Given the description of an element on the screen output the (x, y) to click on. 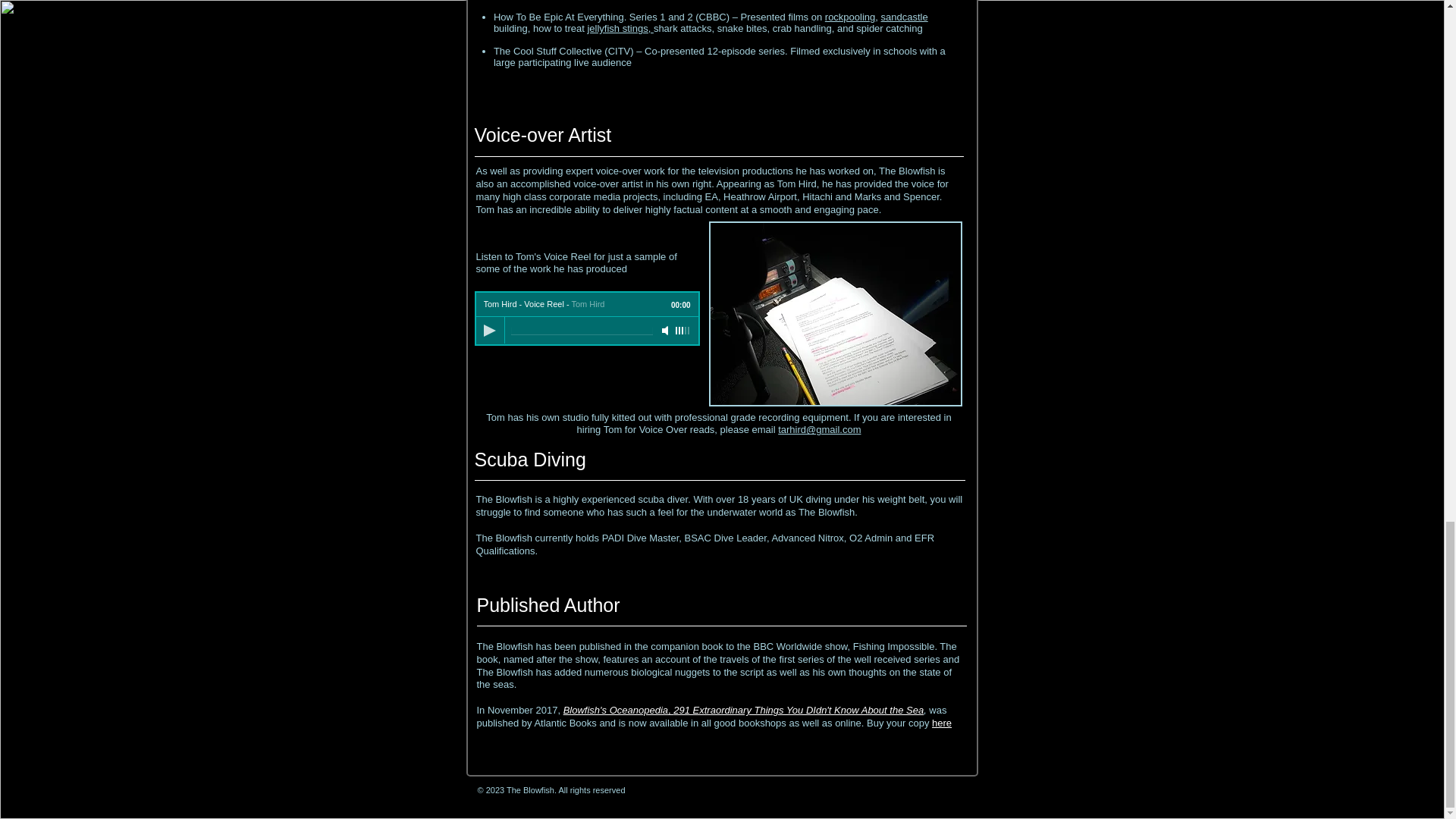
here (941, 722)
0 (581, 330)
